Given the description of an element on the screen output the (x, y) to click on. 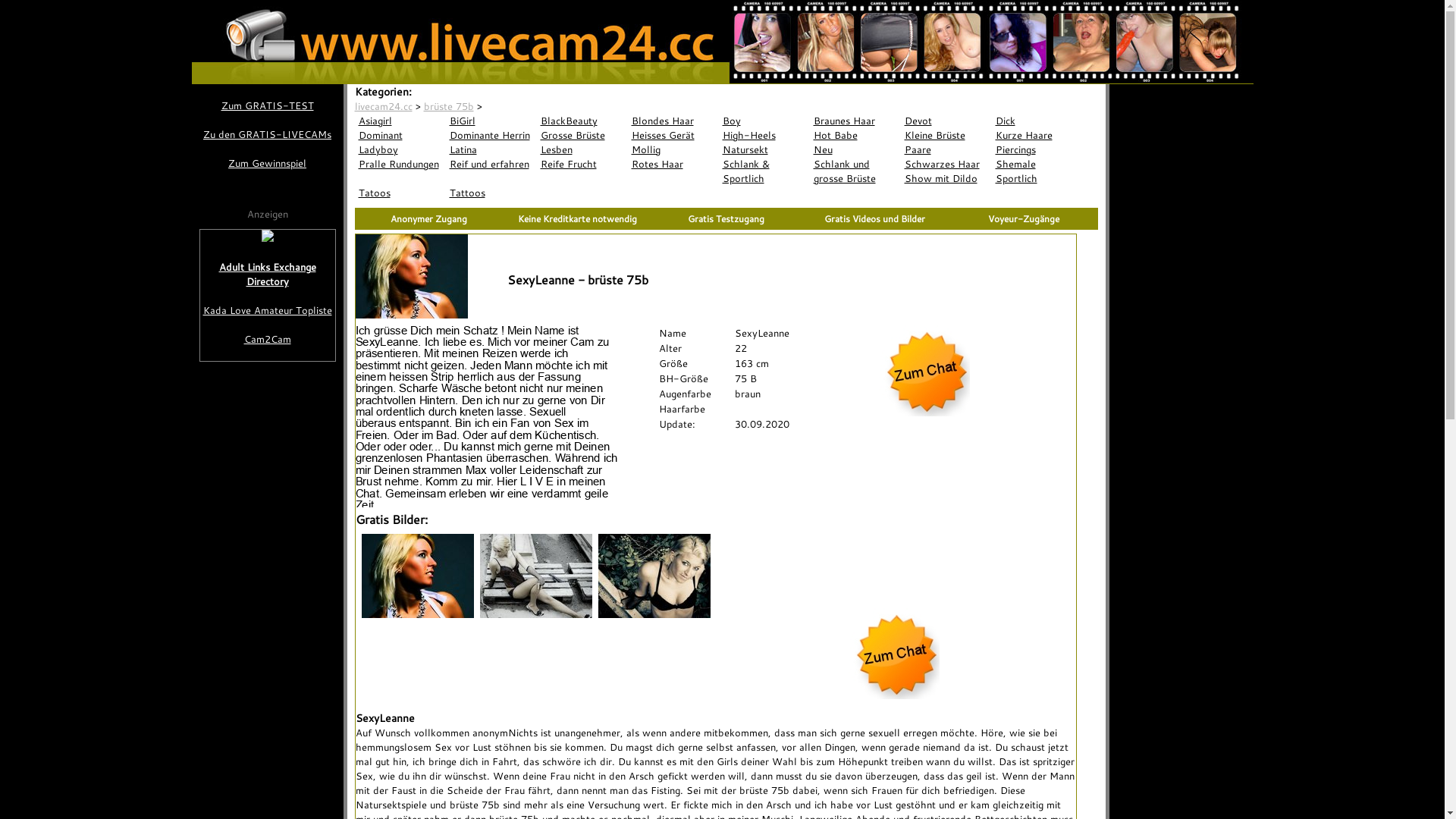
Zum GRATIS-TEST Element type: text (266, 105)
Lesben Element type: text (581, 149)
Reife Frucht Element type: text (581, 163)
Cam2Cam Element type: text (267, 339)
Natursekt Element type: text (763, 149)
Zum Gewinnspiel Element type: text (266, 163)
Schwarzes Haar Element type: text (945, 163)
BiGirl Element type: text (490, 120)
Boy Element type: text (763, 120)
Reif und erfahren Element type: text (490, 163)
Dominante Herrin Element type: text (490, 135)
Show mit Dildo Element type: text (945, 178)
Zu den GRATIS-LIVECAMs Element type: text (266, 134)
Hot Babe Element type: text (854, 135)
Neu Element type: text (854, 149)
Dick Element type: text (1036, 120)
Pralle Rundungen Element type: text (399, 163)
Kurze Haare Element type: text (1036, 135)
Devot Element type: text (945, 120)
Latina Element type: text (490, 149)
Tatoos Element type: text (399, 192)
Ladyboy Element type: text (399, 149)
Schlank & Sportlich Element type: text (763, 170)
Kada Love Amateur Topliste Element type: text (267, 310)
Rotes Haar Element type: text (672, 163)
Piercings Element type: text (1036, 149)
Asiagirl Element type: text (399, 120)
Mollig Element type: text (672, 149)
Tattoos Element type: text (490, 192)
BlackBeauty Element type: text (581, 120)
Shemale Element type: text (1036, 163)
SexyLeanne Element type: text (512, 105)
Paare Element type: text (945, 149)
Dominant Element type: text (399, 135)
High-Heels Element type: text (763, 135)
Adult Links Exchange Directory Element type: text (267, 274)
Sportlich Element type: text (1036, 178)
Blondes Haar Element type: text (672, 120)
SexyLeanne Profil Element type: hover (485, 416)
livecam24.cc Element type: text (383, 105)
Braunes Haar Element type: text (854, 120)
